Given the description of an element on the screen output the (x, y) to click on. 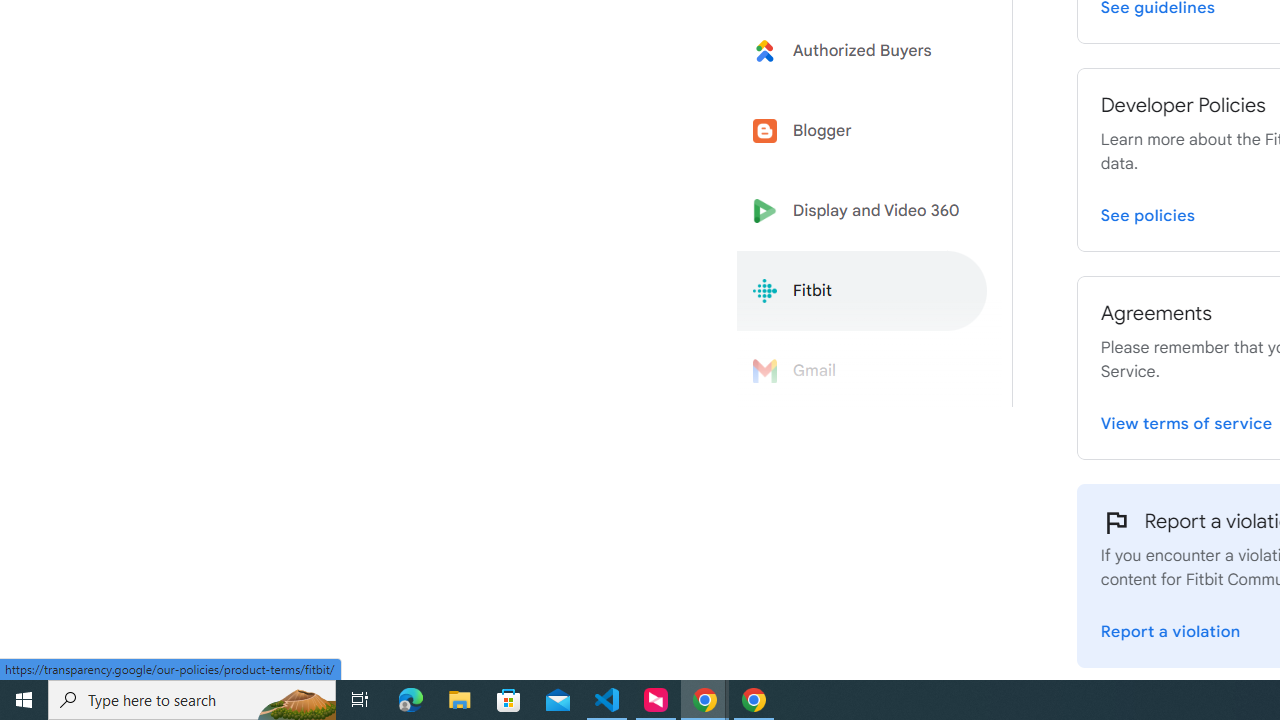
Fitbit (862, 291)
Display and Video 360 (862, 211)
Learn more about Authorized Buyers (862, 50)
View Fitbit Developer Policies page (1147, 211)
Gmail (862, 371)
Report a violation (1170, 628)
Gmail (862, 371)
Blogger (862, 130)
Blogger (862, 130)
Learn more about Authorized Buyers (862, 50)
Display and Video 360 (862, 211)
Fitbit (862, 291)
